Given the description of an element on the screen output the (x, y) to click on. 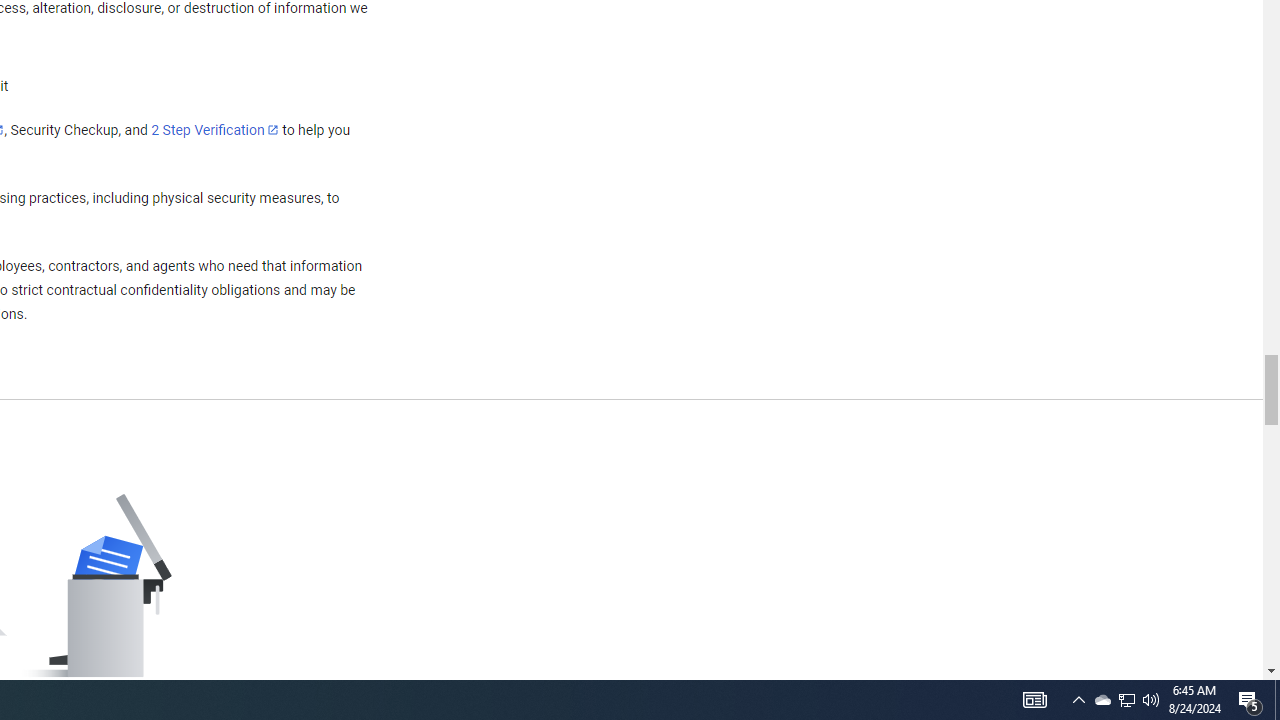
2 Step Verification (215, 129)
